Given the description of an element on the screen output the (x, y) to click on. 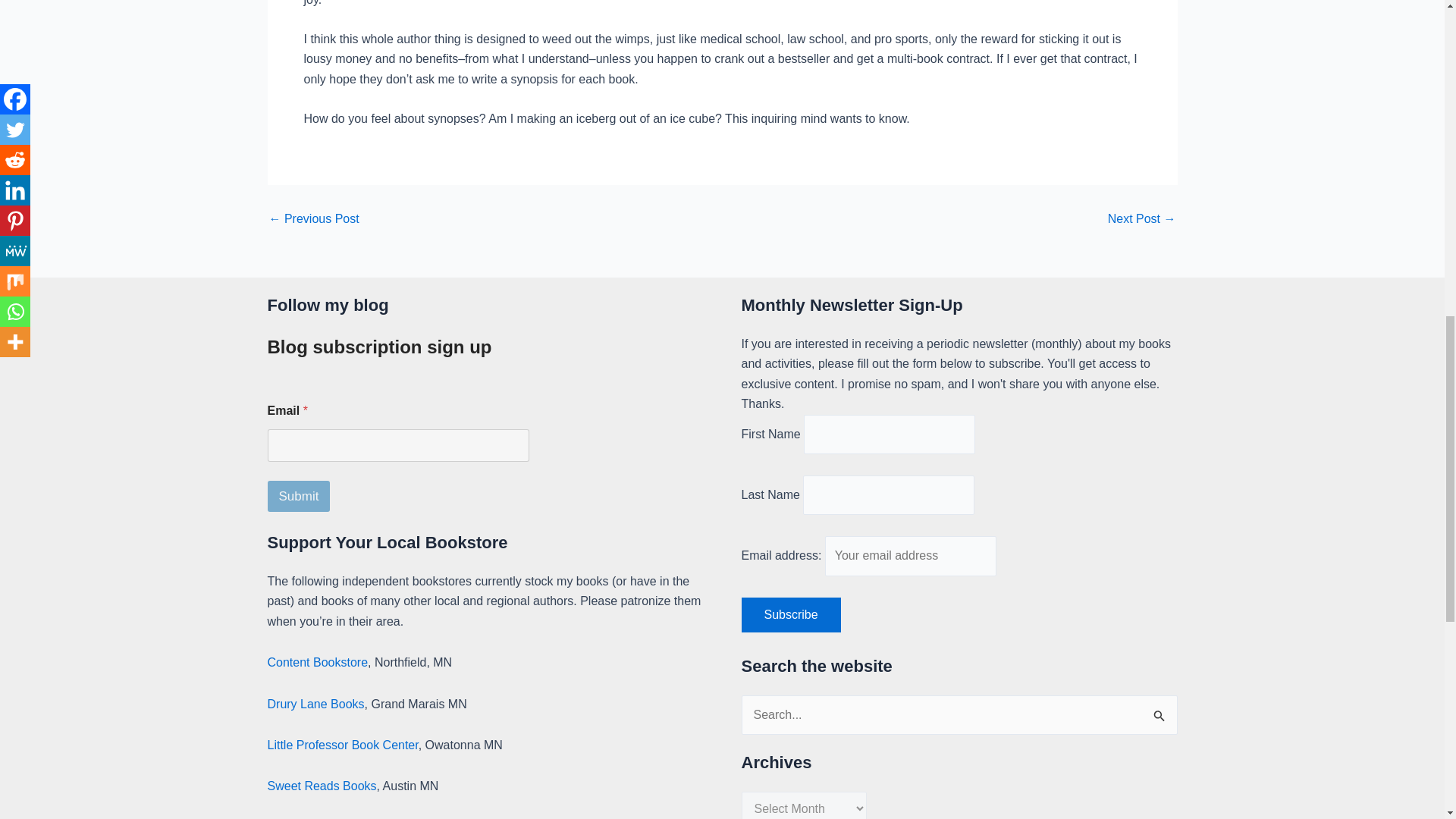
Search (1159, 711)
Ten writing lessons I learned in 2010 (312, 218)
Subscribe (791, 614)
Search (1159, 711)
A small moral victory (1142, 218)
